Given the description of an element on the screen output the (x, y) to click on. 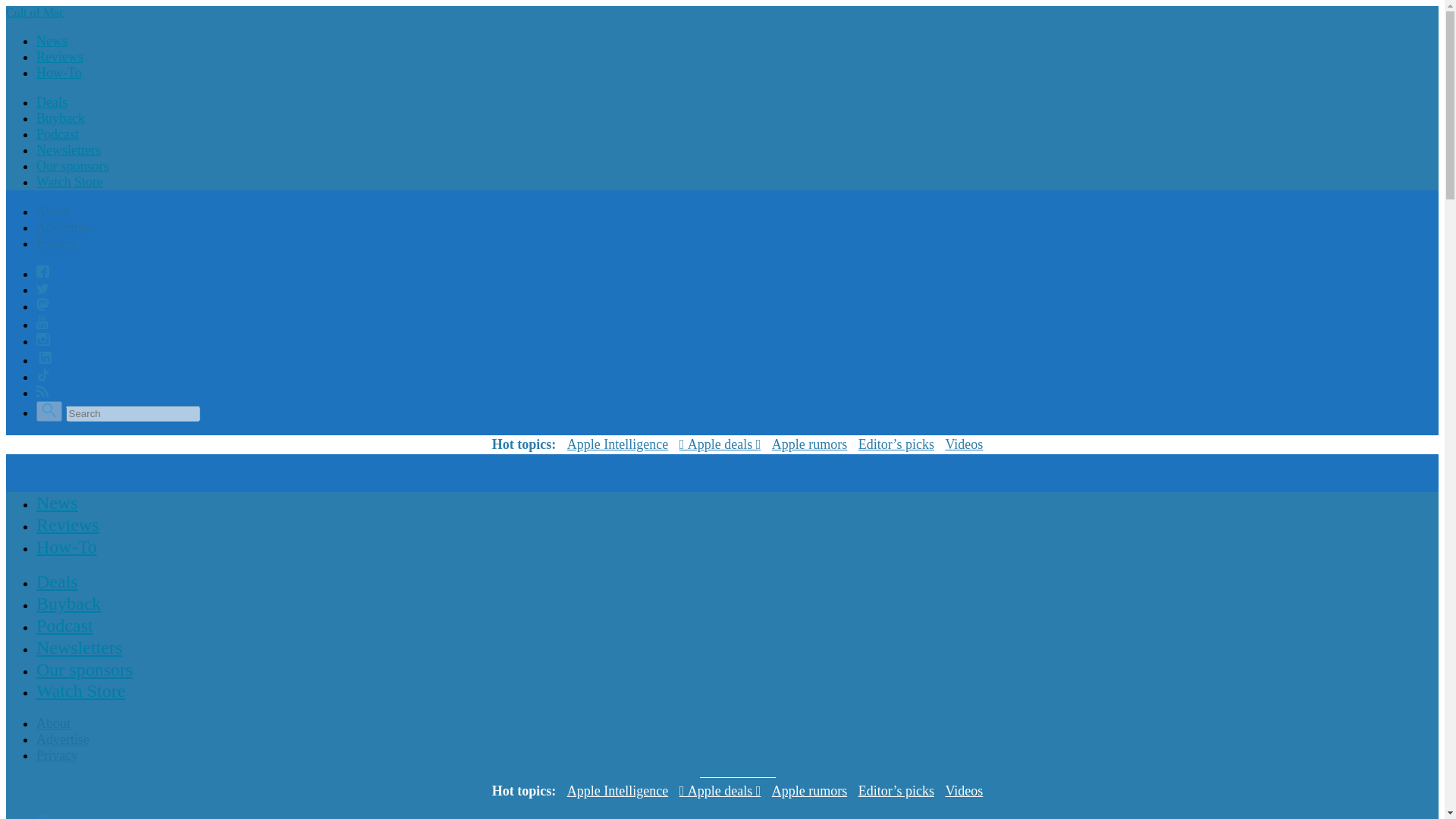
News (57, 502)
Reviews (59, 56)
Apple Intelligence (617, 791)
Videos (963, 791)
Buyback (60, 118)
Videos (963, 444)
Buyback (68, 603)
About (52, 211)
Apple rumors (809, 444)
Apple legal battles (809, 791)
Podcast (64, 625)
Deals (57, 581)
Podcast (57, 133)
Apple legal battles (809, 444)
Apple Intelligence (617, 444)
